Given the description of an element on the screen output the (x, y) to click on. 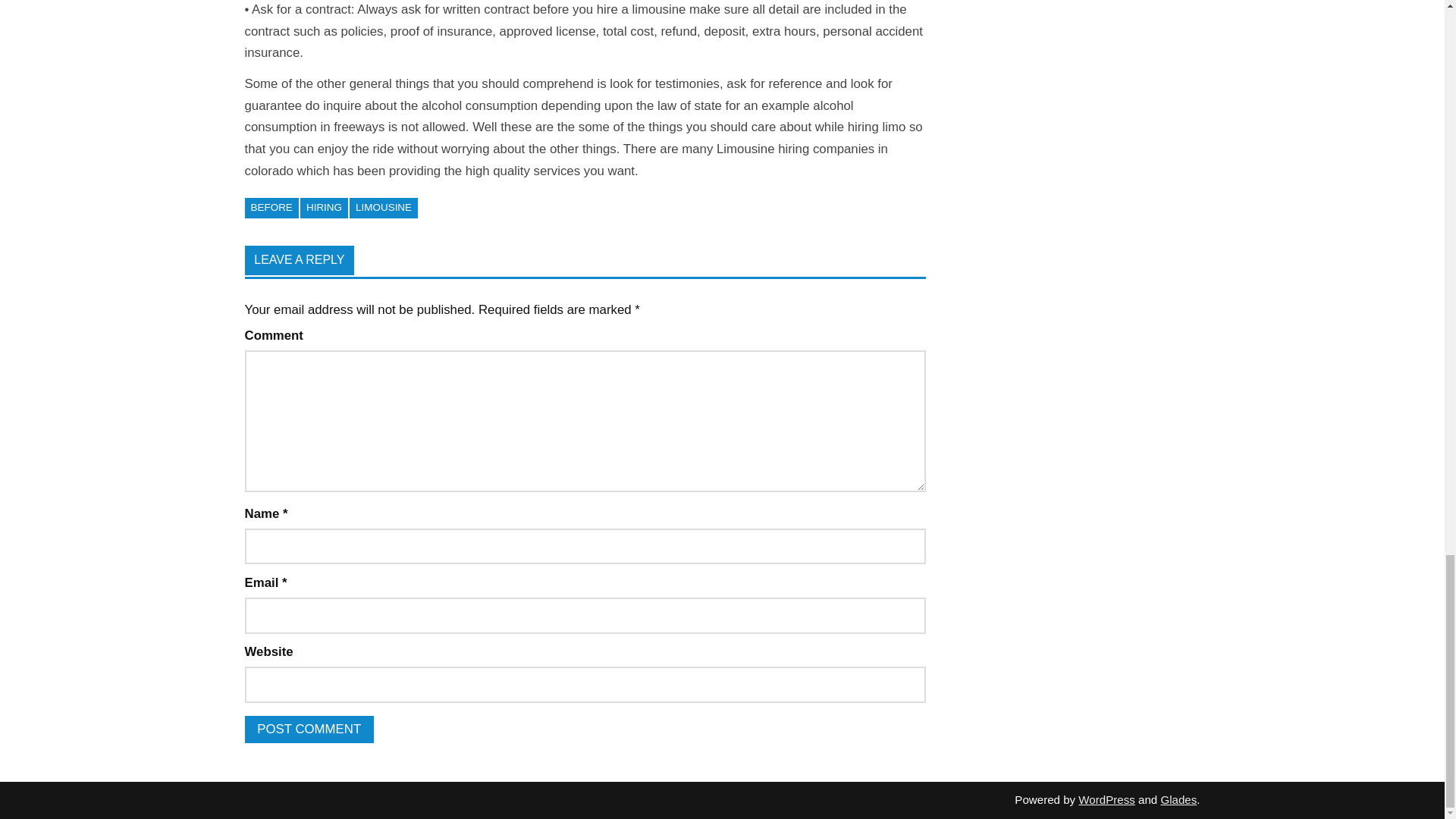
Post Comment (308, 729)
BEFORE (271, 208)
Post Comment (308, 729)
HIRING (323, 208)
LIMOUSINE (383, 208)
